Given the description of an element on the screen output the (x, y) to click on. 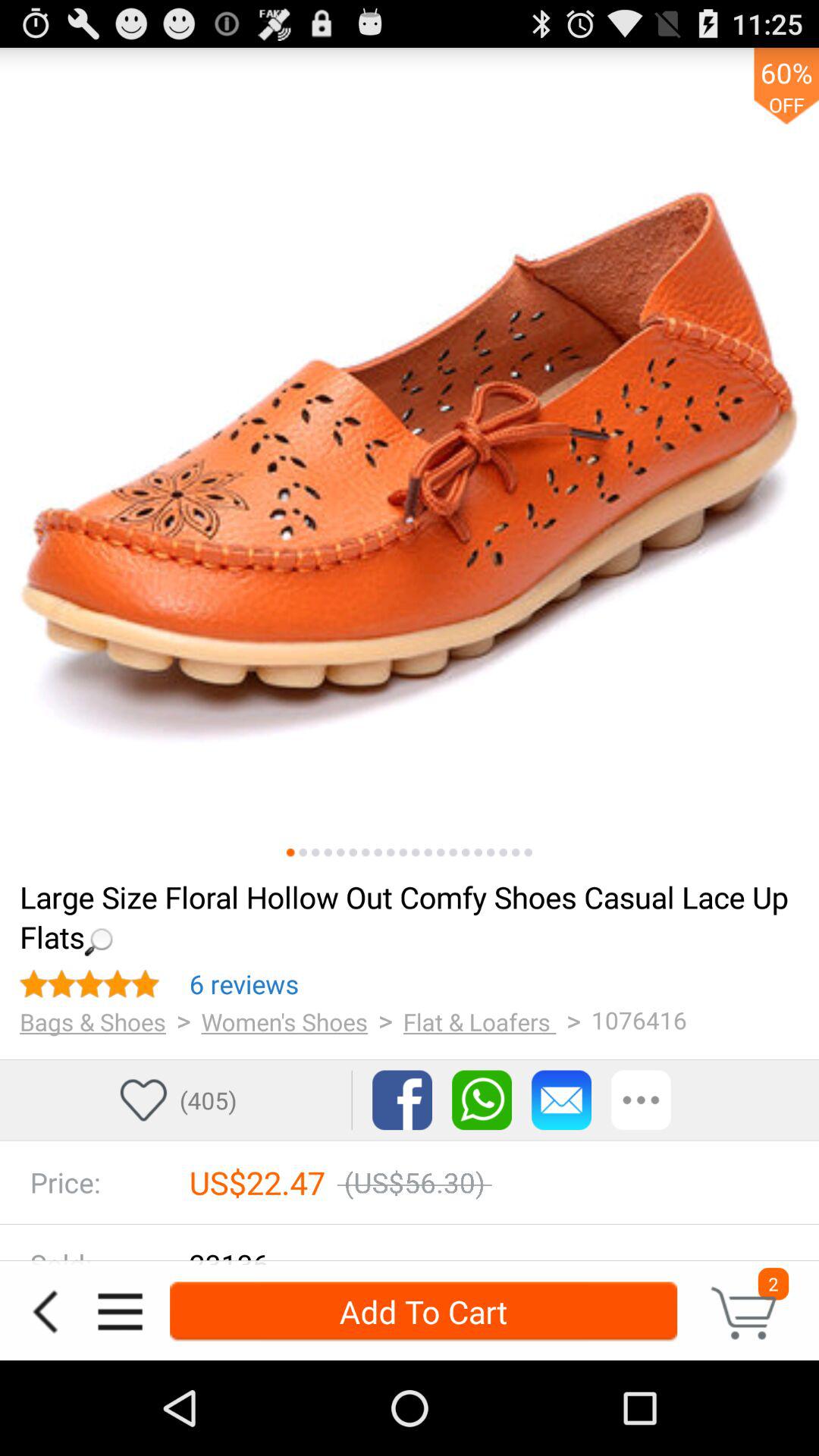
click to see other photos (528, 852)
